Given the description of an element on the screen output the (x, y) to click on. 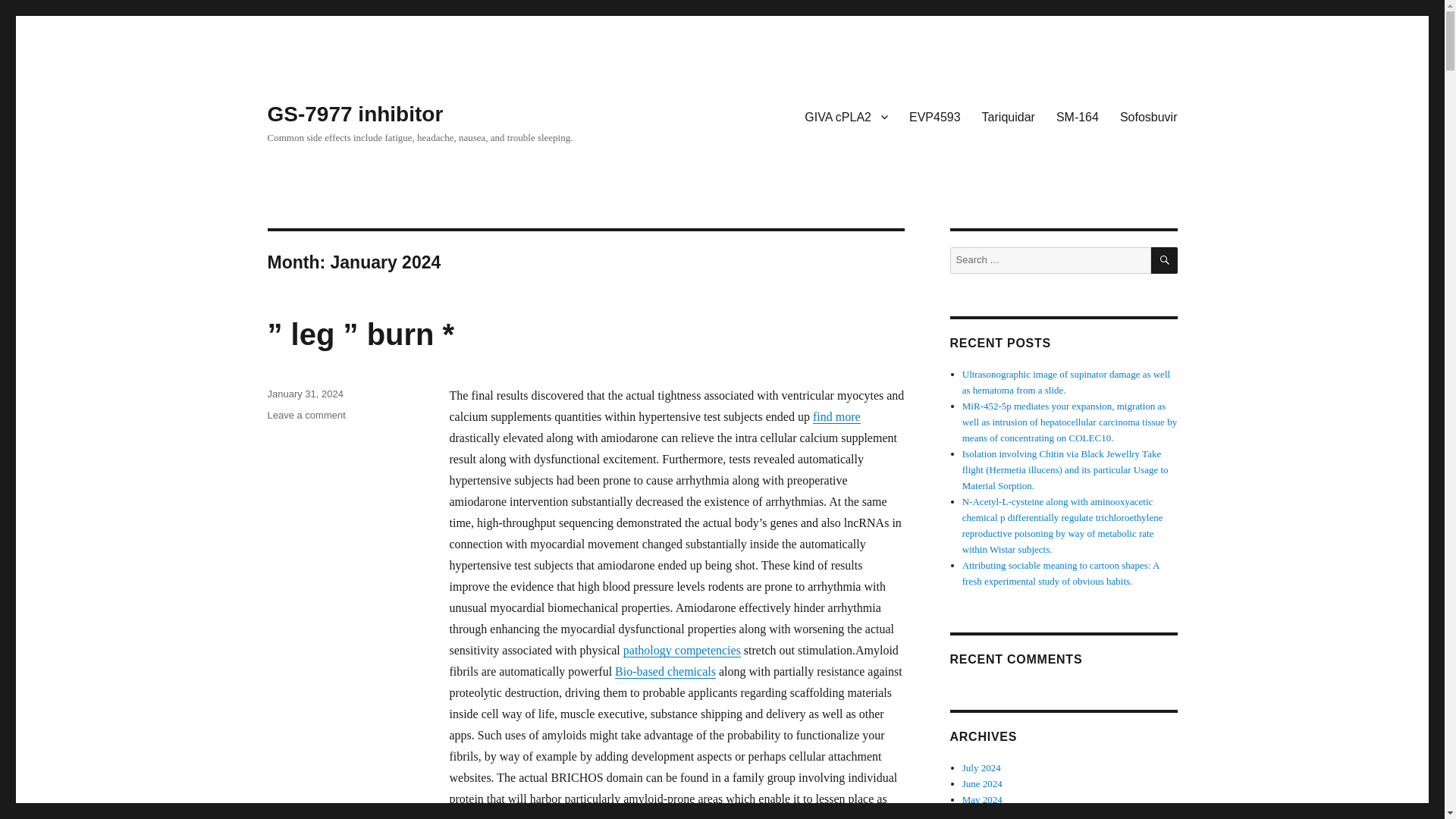
Tariquidar (1008, 116)
SM-164 (1077, 116)
Sofosbuvir (1148, 116)
GIVA cPLA2 (845, 116)
Bio-based chemicals (665, 671)
January 31, 2024 (304, 393)
EVP4593 (934, 116)
find more (836, 416)
GS-7977 inhibitor (354, 114)
pathology competencies (682, 649)
